Given the description of an element on the screen output the (x, y) to click on. 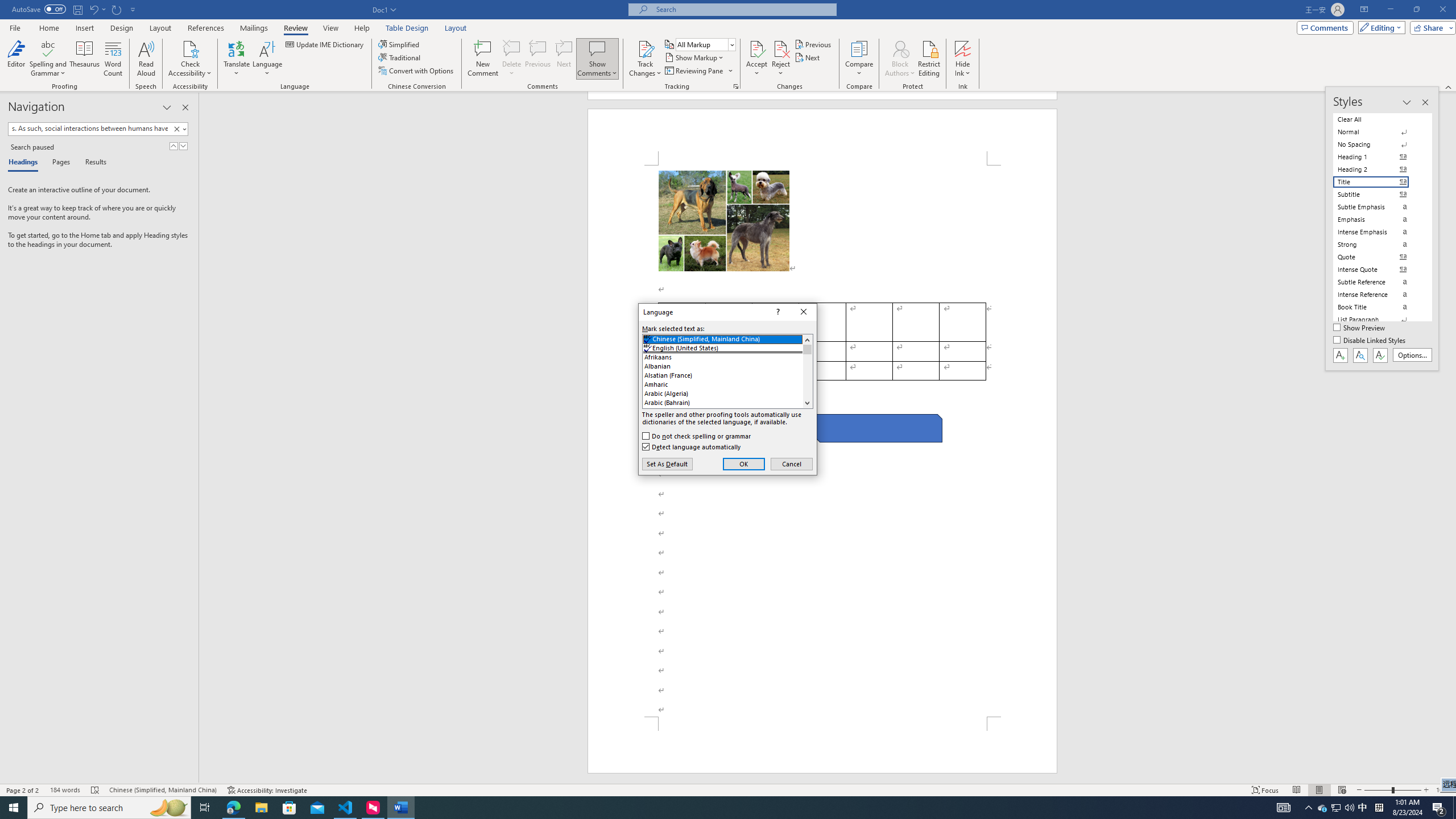
Page Number Page 2 of 2 (22, 790)
Line up (807, 339)
Accept (756, 58)
Track Changes (644, 58)
